Given the description of an element on the screen output the (x, y) to click on. 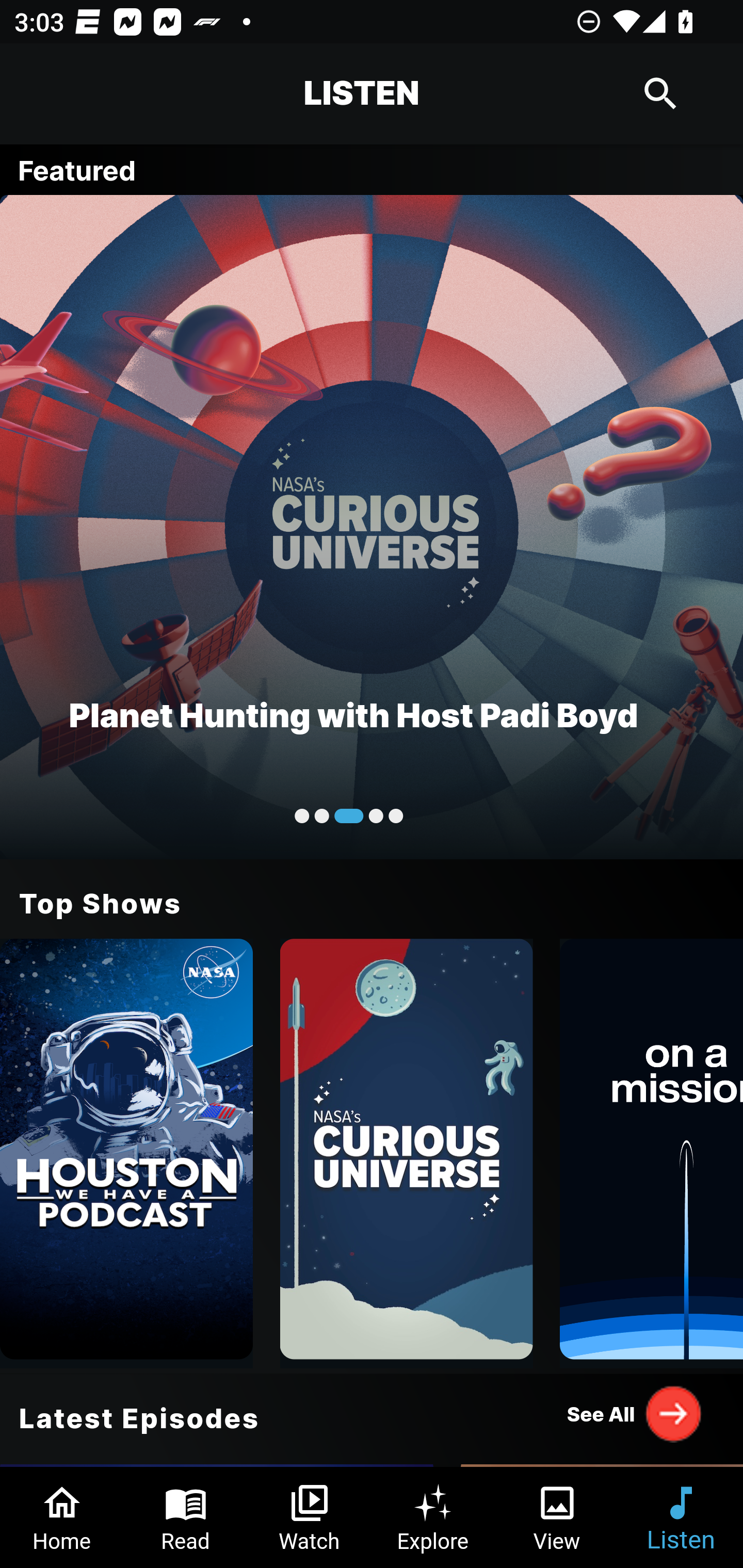
Planet Hunting with Host Padi Boyd (371, 526)
See All (634, 1413)
Home
Tab 1 of 6 (62, 1517)
Read
Tab 2 of 6 (185, 1517)
Watch
Tab 3 of 6 (309, 1517)
Explore
Tab 4 of 6 (433, 1517)
View
Tab 5 of 6 (556, 1517)
Listen
Tab 6 of 6 (680, 1517)
